Given the description of an element on the screen output the (x, y) to click on. 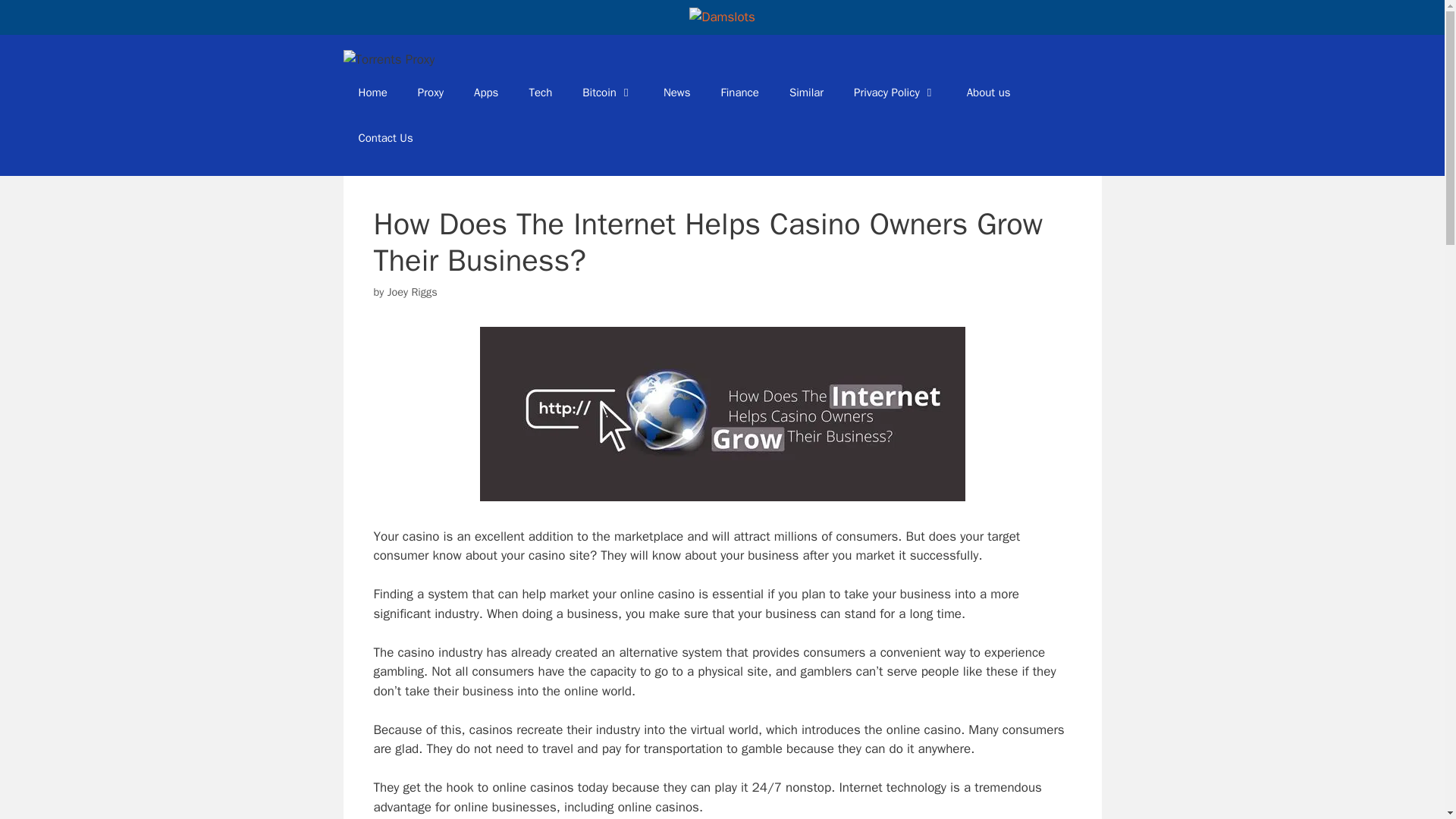
Damslots (721, 17)
Contact Us (385, 137)
Finance (740, 92)
Privacy Policy (895, 92)
Similar (806, 92)
Home (371, 92)
Bitcoin (607, 92)
View all posts by Joey Riggs (412, 291)
About us (989, 92)
Proxy (430, 92)
Joey Riggs (412, 291)
Tech (540, 92)
News (676, 92)
Apps (485, 92)
